Given the description of an element on the screen output the (x, y) to click on. 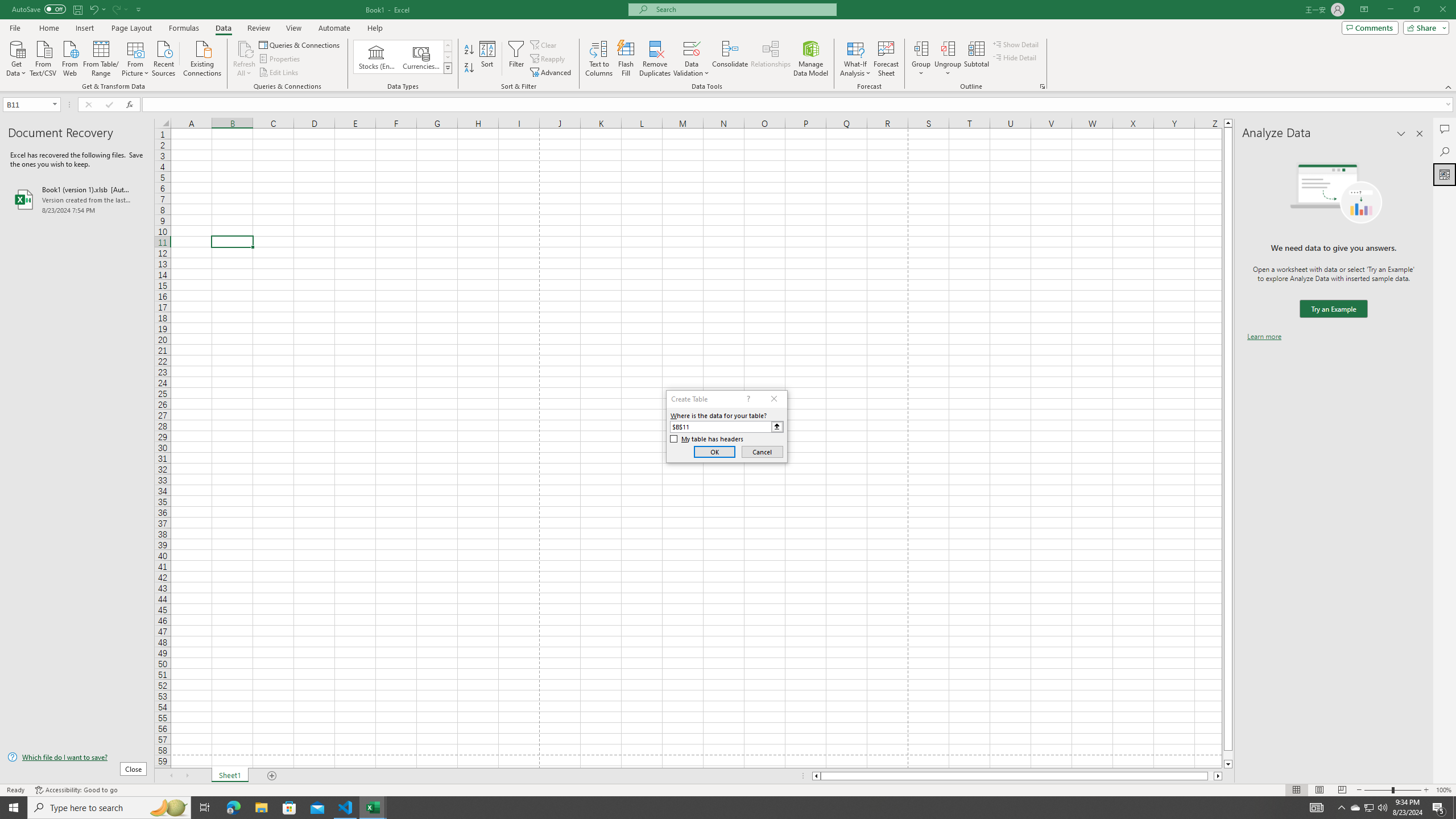
Recent Sources (163, 57)
Sort A to Z (469, 49)
Queries & Connections (300, 44)
Text to Columns... (598, 58)
Edit Links (279, 72)
From Picture (135, 57)
Advanced... (551, 72)
